Given the description of an element on the screen output the (x, y) to click on. 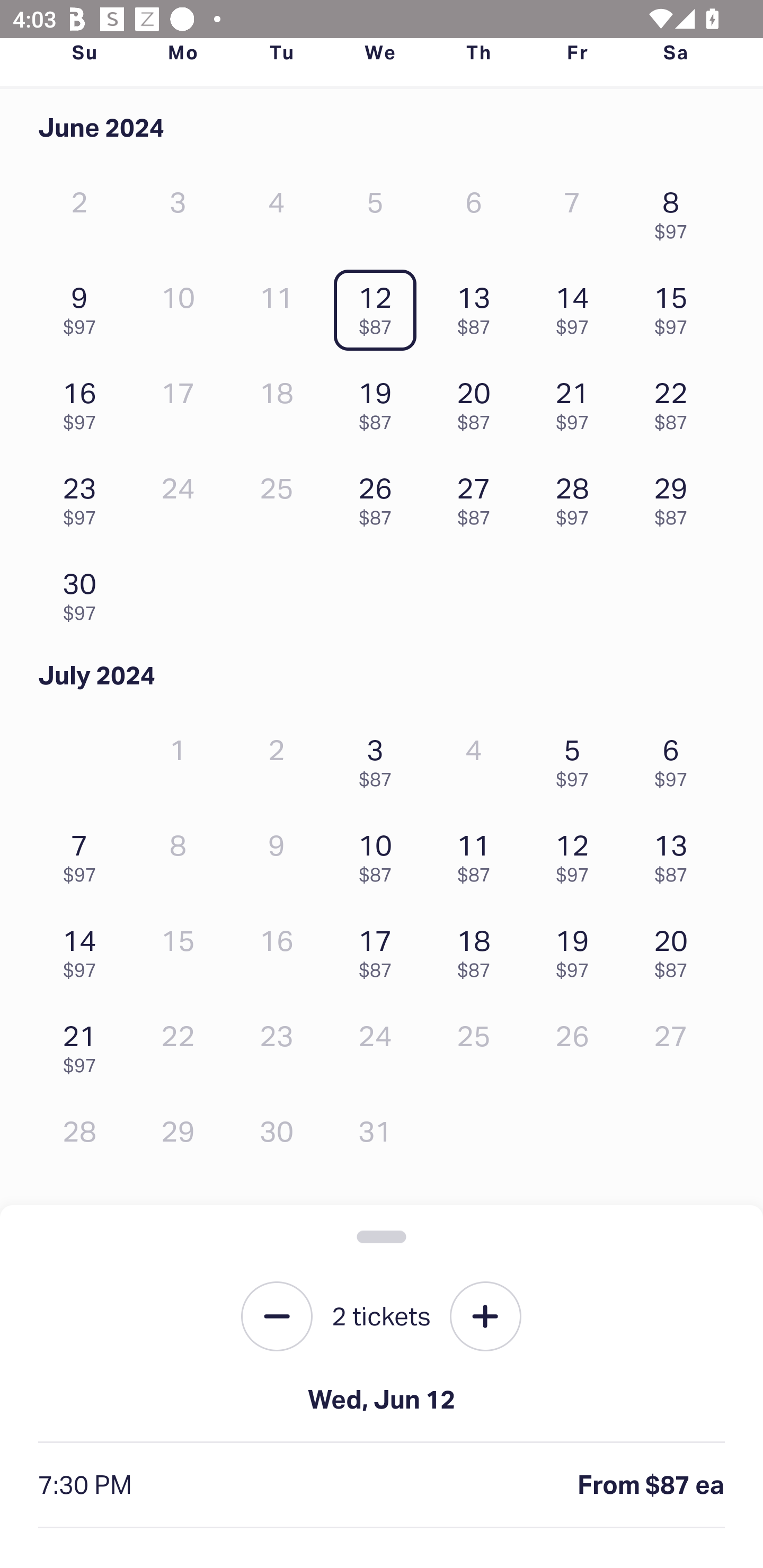
8 $97 (675, 210)
9 $97 (84, 306)
12 $87 (379, 306)
13 $87 (478, 306)
14 $97 (577, 306)
15 $97 (675, 306)
16 $97 (84, 401)
19 $87 (379, 401)
20 $87 (478, 401)
21 $97 (577, 401)
22 $87 (675, 401)
23 $97 (84, 496)
26 $87 (379, 496)
27 $87 (478, 496)
28 $97 (577, 496)
29 $87 (675, 496)
30 $97 (84, 591)
3 $87 (379, 757)
5 $97 (577, 757)
6 $97 (675, 757)
7 $97 (84, 853)
10 $87 (379, 853)
11 $87 (478, 853)
12 $97 (577, 853)
13 $87 (675, 853)
14 $97 (84, 949)
17 $87 (379, 949)
18 $87 (478, 949)
19 $97 (577, 949)
20 $87 (675, 949)
21 $97 (84, 1044)
7:30 PM From $87 ea (381, 1485)
